Given the description of an element on the screen output the (x, y) to click on. 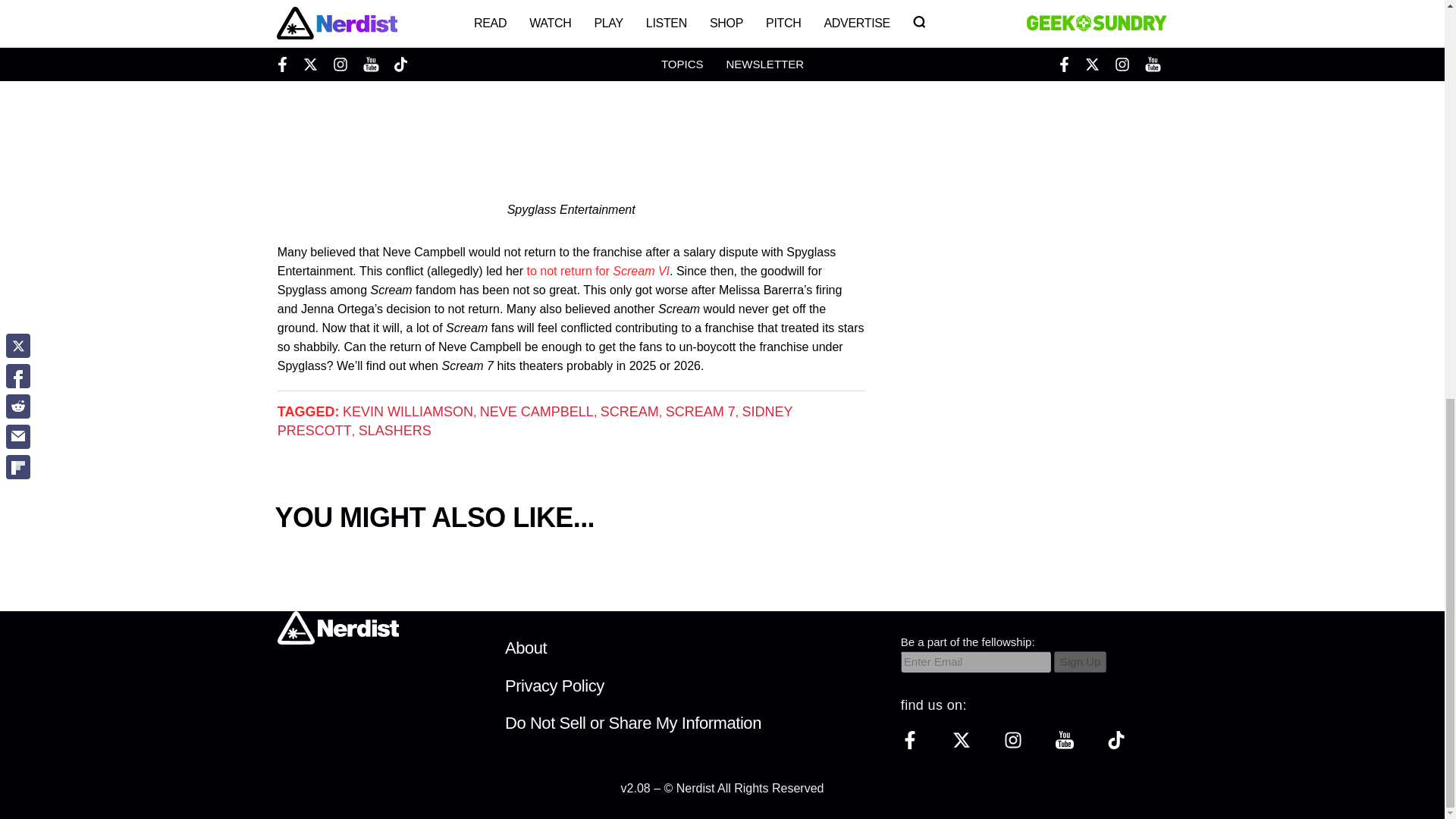
SIDNEY PRESCOTT (535, 421)
SCREAM 7 (700, 411)
NEVE CAMPBELL (537, 411)
KEVIN WILLIAMSON (407, 411)
SLASHERS (394, 430)
SCREAM (629, 411)
Sign Up (1080, 662)
to not return for Scream VI (597, 270)
